Given the description of an element on the screen output the (x, y) to click on. 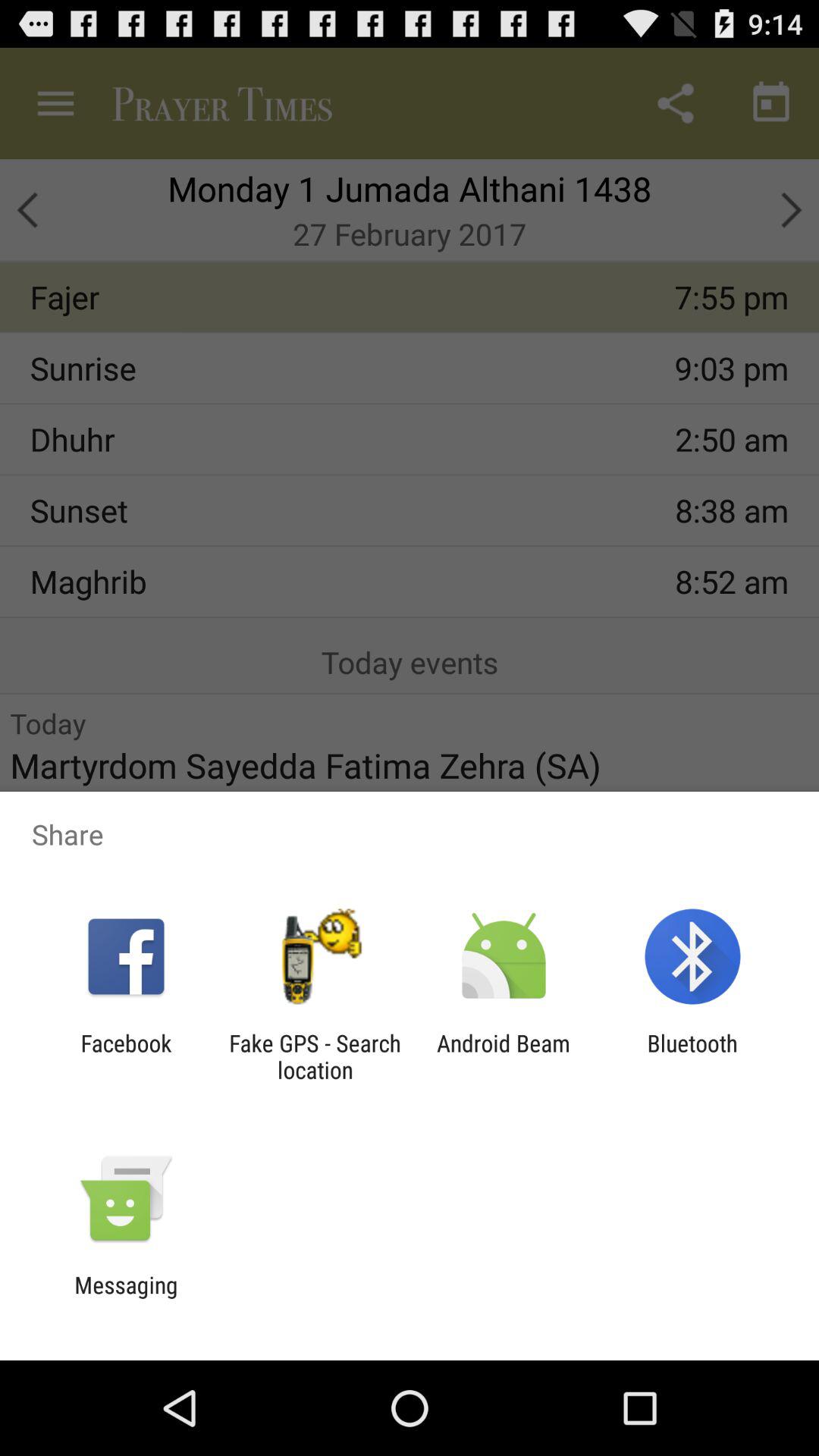
choose the app to the right of fake gps search (503, 1056)
